Given the description of an element on the screen output the (x, y) to click on. 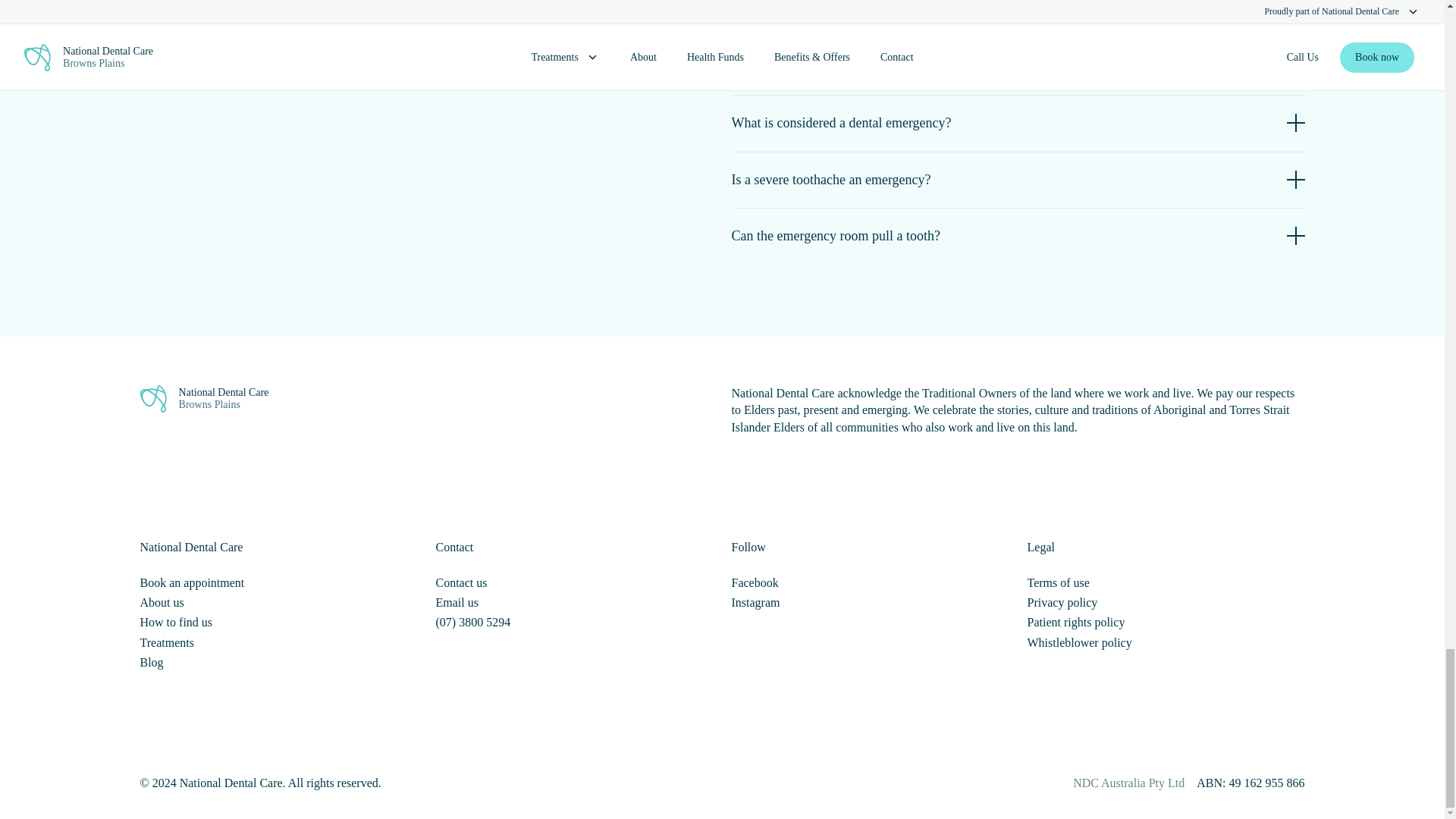
Is emergency dental covered by health insurance? (1017, 66)
How much do emergency dental services cost? (1017, 19)
Is a severe toothache an emergency? (1017, 179)
What is considered a dental emergency? (1017, 122)
Can the emergency room pull a tooth? (1017, 235)
